Given the description of an element on the screen output the (x, y) to click on. 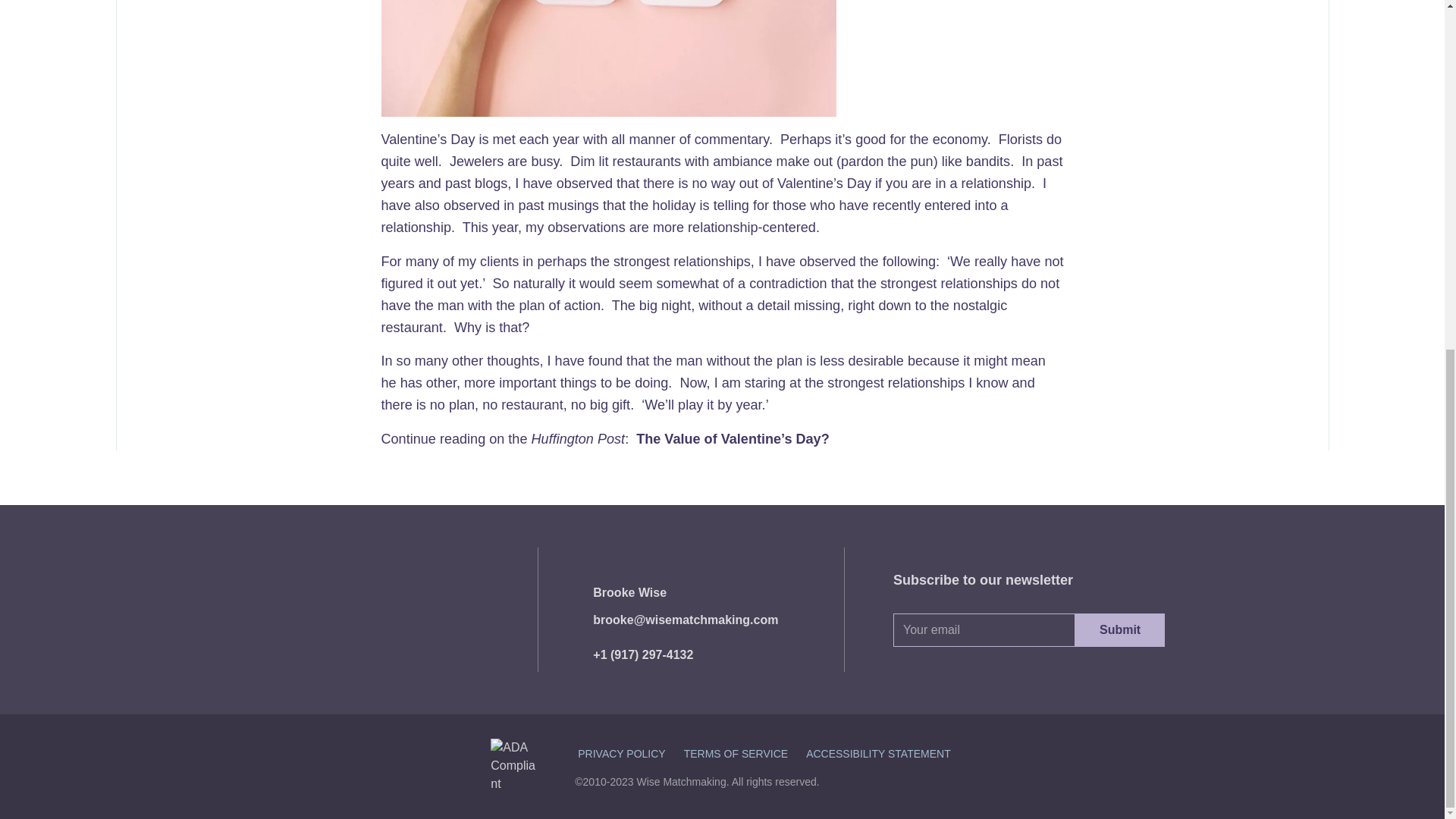
ACCESSIBILITY STATEMENT (878, 754)
TERMS OF SERVICE (735, 754)
Main page (383, 609)
Submit (1119, 630)
PRIVACY POLICY (621, 754)
Submit (1119, 630)
